Given the description of an element on the screen output the (x, y) to click on. 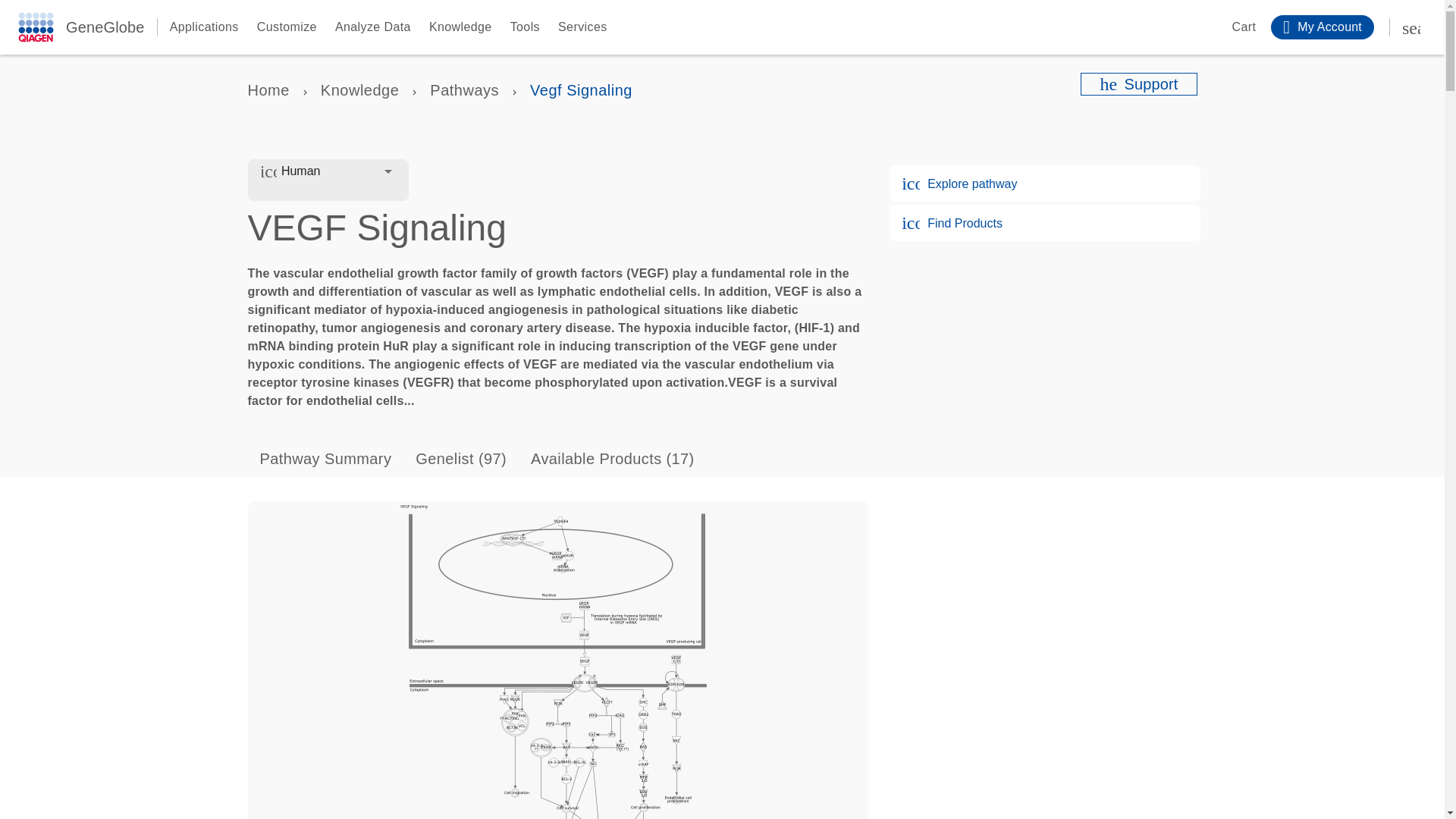
search (1411, 27)
Home (267, 89)
Cart (1233, 27)
My Account (1322, 27)
Analyze Data (372, 27)
Customize (286, 27)
Tools (524, 27)
Pathways (464, 89)
GeneGlobe (105, 27)
Services (581, 27)
